Given the description of an element on the screen output the (x, y) to click on. 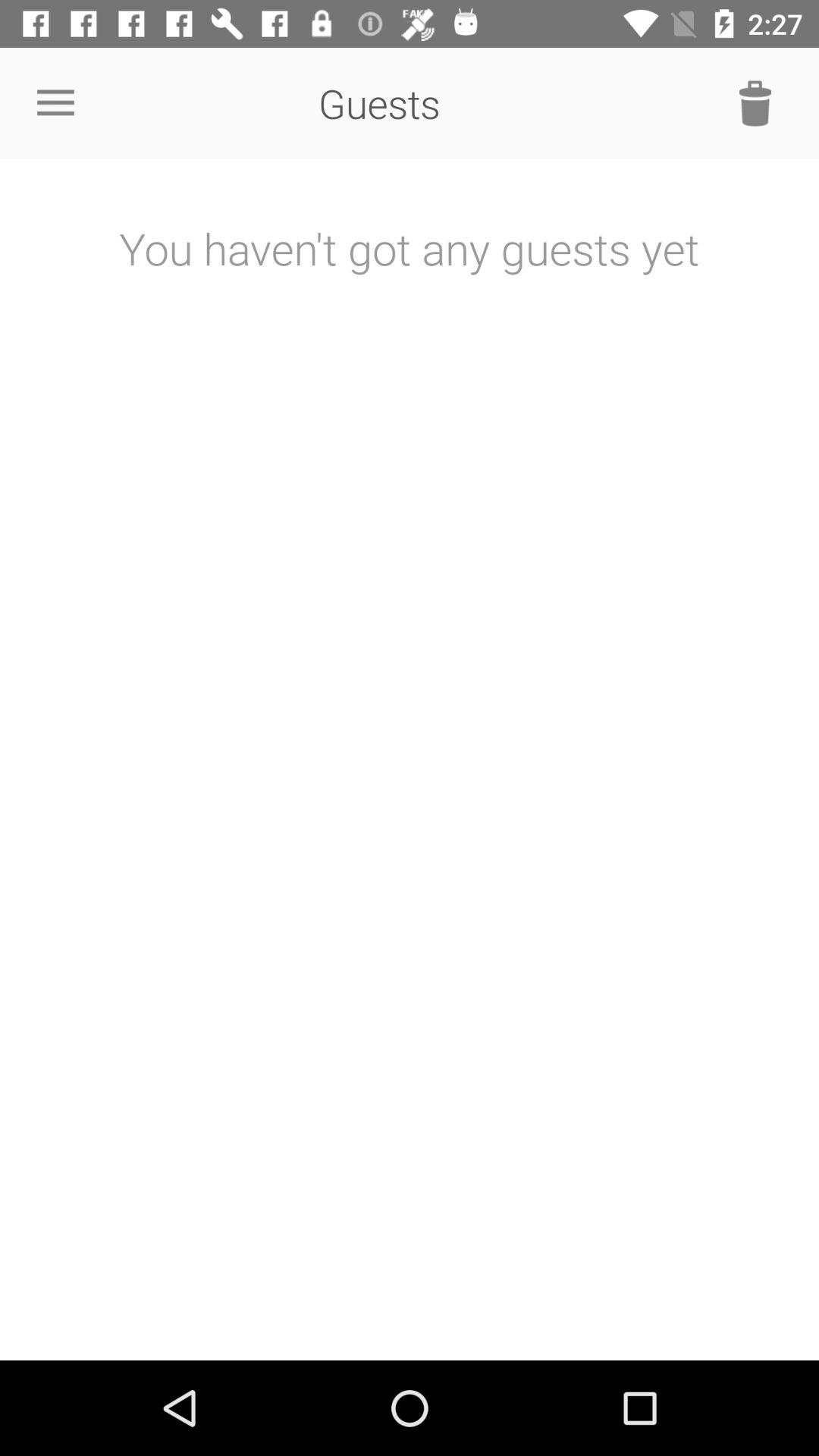
launch item next to guests item (55, 103)
